Given the description of an element on the screen output the (x, y) to click on. 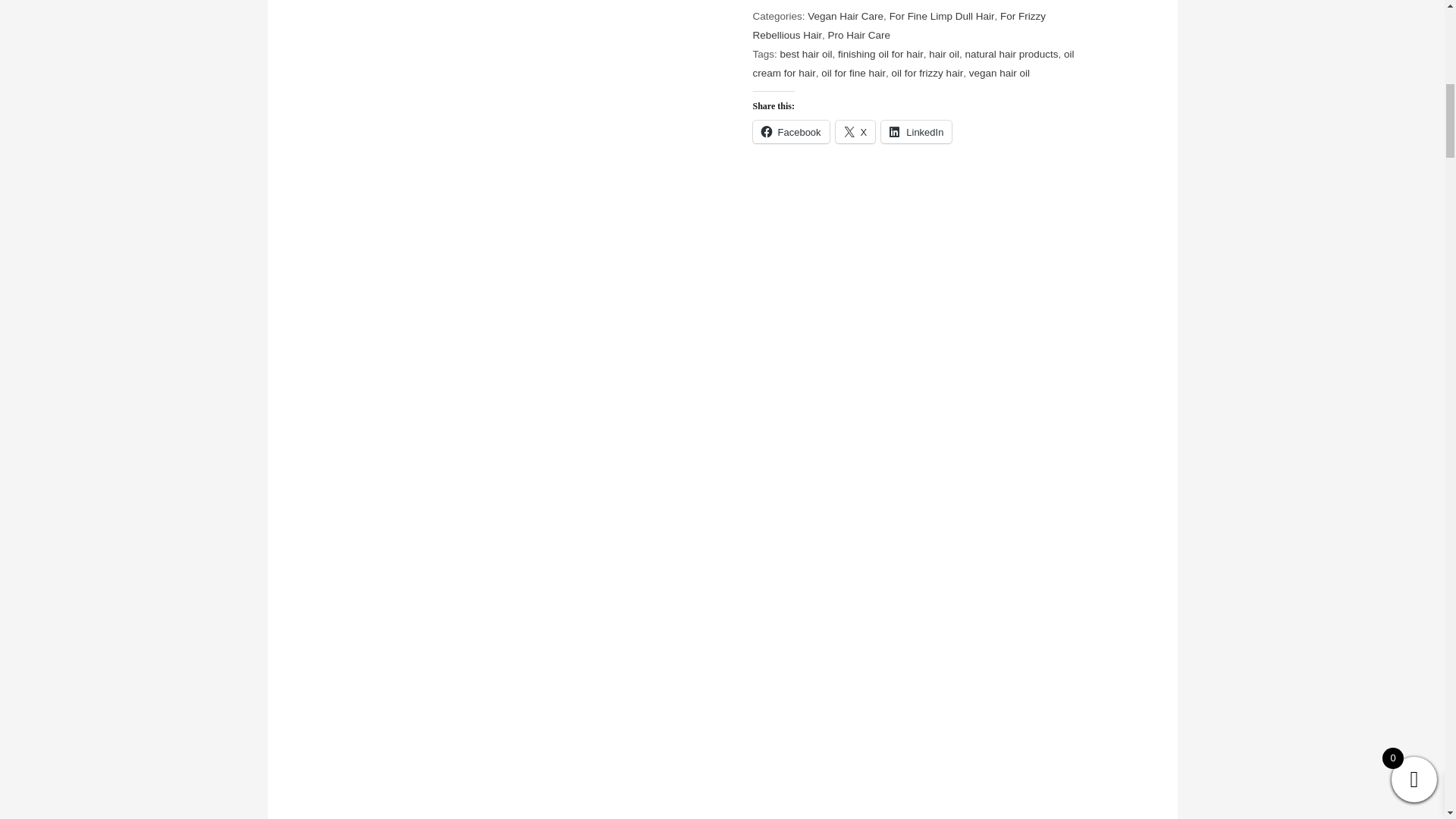
Click to share on Facebook (790, 131)
Click to share on X (855, 131)
Click to share on LinkedIn (916, 131)
